Given the description of an element on the screen output the (x, y) to click on. 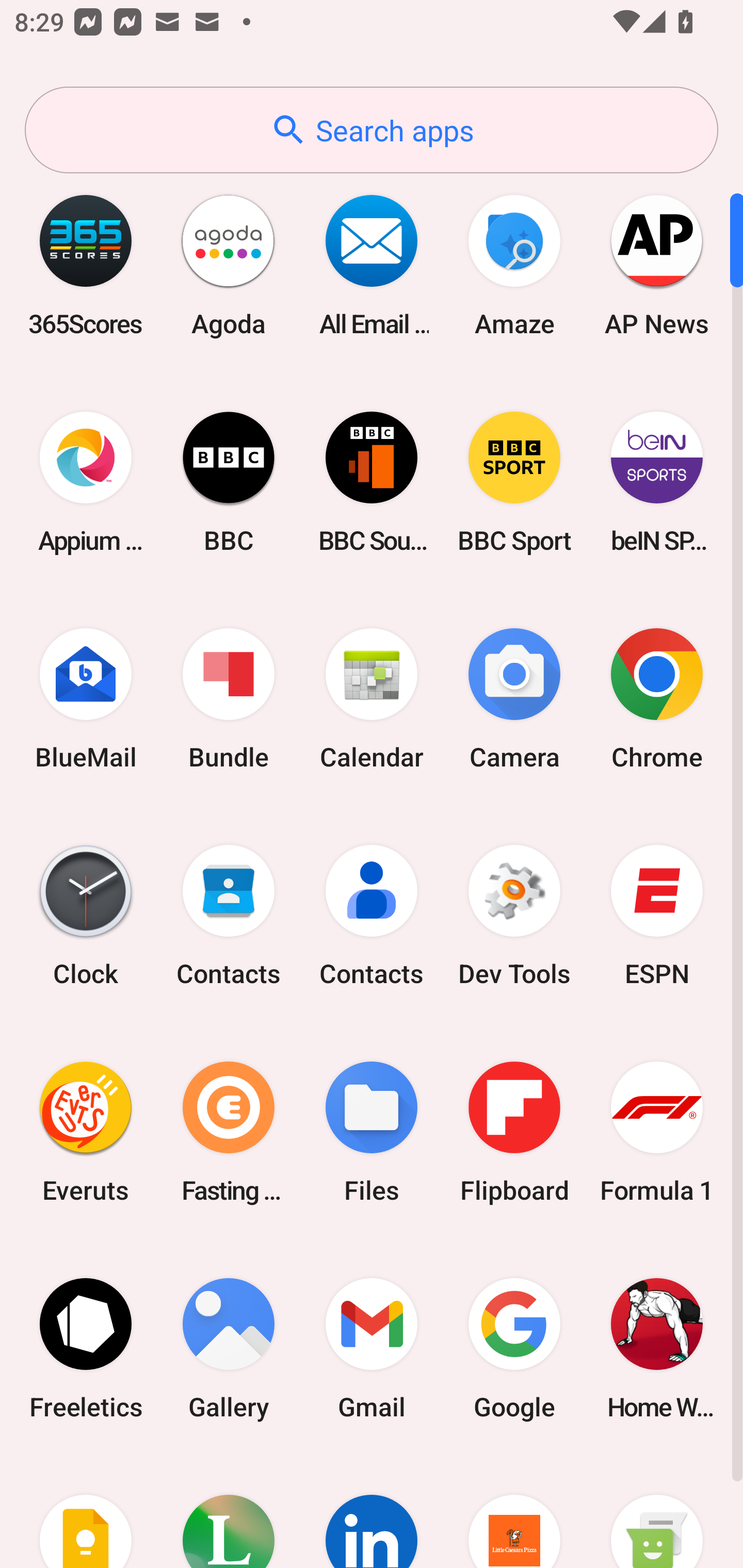
  Search apps (371, 130)
365Scores (85, 264)
Agoda (228, 264)
All Email Connect (371, 264)
Amaze (514, 264)
AP News (656, 264)
Appium Settings (85, 482)
BBC (228, 482)
BBC Sounds (371, 482)
BBC Sport (514, 482)
beIN SPORTS (656, 482)
BlueMail (85, 699)
Bundle (228, 699)
Calendar (371, 699)
Camera (514, 699)
Chrome (656, 699)
Clock (85, 915)
Contacts (228, 915)
Contacts (371, 915)
Dev Tools (514, 915)
ESPN (656, 915)
Everuts (85, 1131)
Fasting Coach (228, 1131)
Files (371, 1131)
Flipboard (514, 1131)
Formula 1 (656, 1131)
Freeletics (85, 1348)
Gallery (228, 1348)
Gmail (371, 1348)
Google (514, 1348)
Home Workout (656, 1348)
Keep Notes (85, 1512)
Lifesum (228, 1512)
LinkedIn (371, 1512)
Little Caesars Pizza (514, 1512)
Messaging (656, 1512)
